Given the description of an element on the screen output the (x, y) to click on. 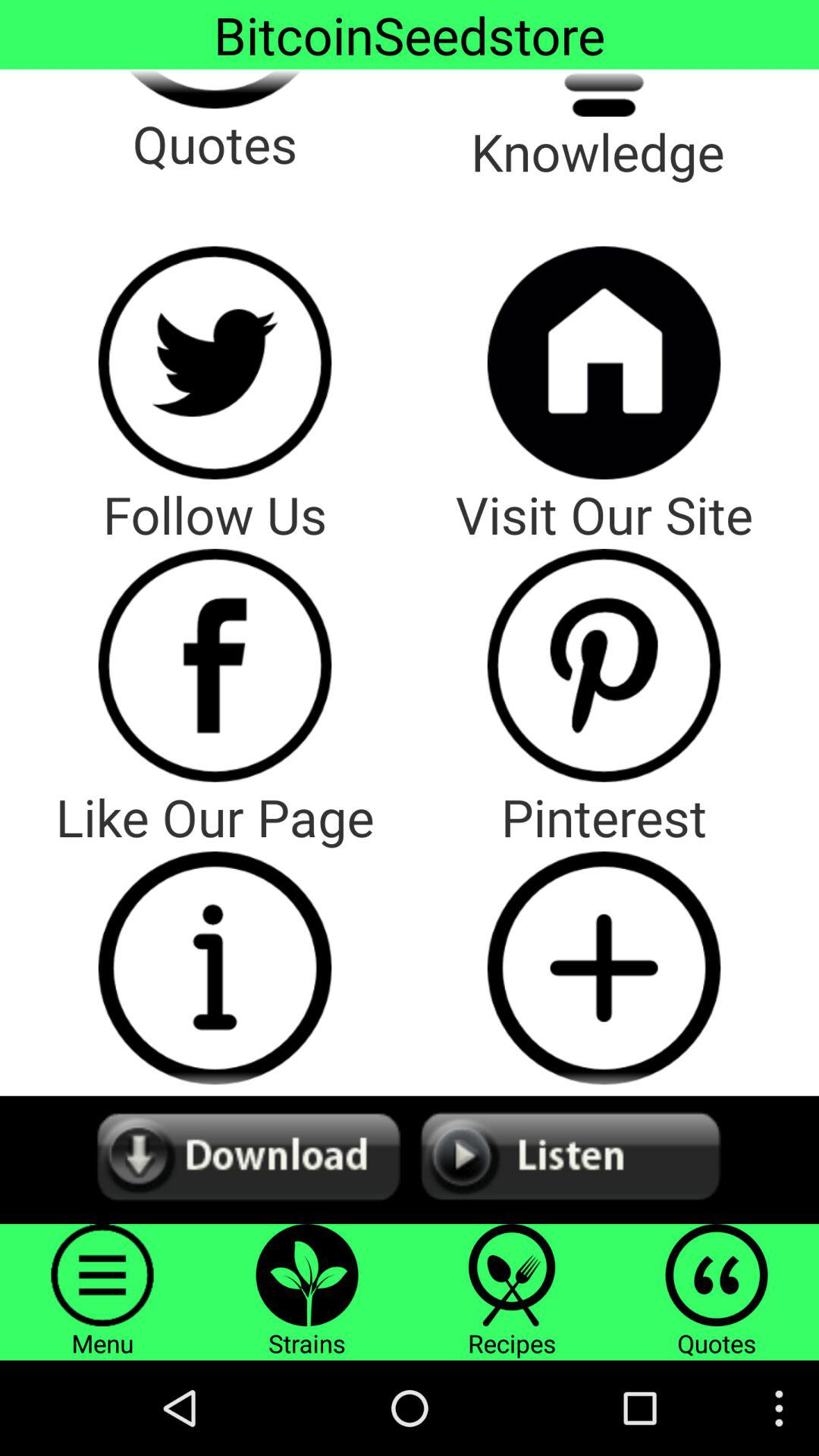
add item (603, 967)
